Given the description of an element on the screen output the (x, y) to click on. 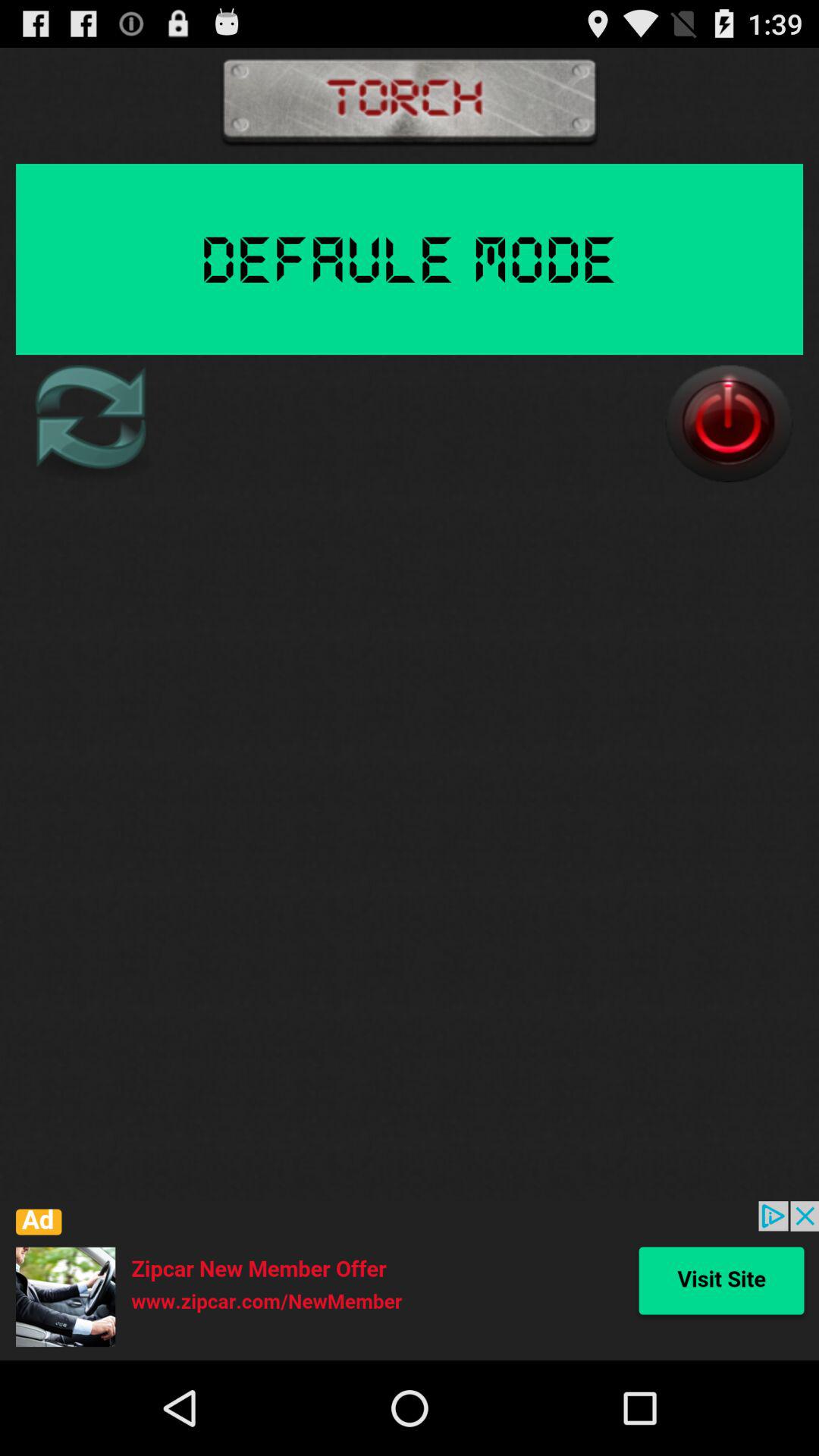
go to the advertisement page (409, 1280)
